Given the description of an element on the screen output the (x, y) to click on. 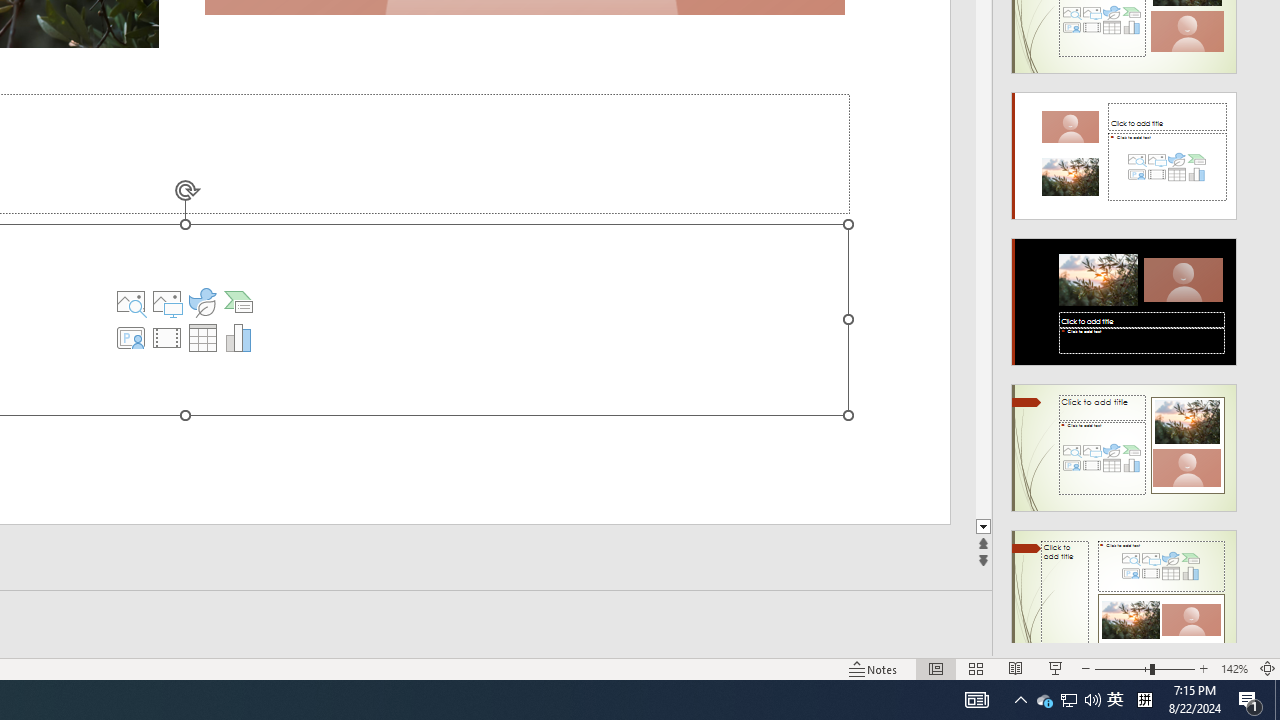
Design Idea (1124, 587)
Zoom 142% (1234, 668)
Class: NetUIImage (1124, 593)
